Given the description of an element on the screen output the (x, y) to click on. 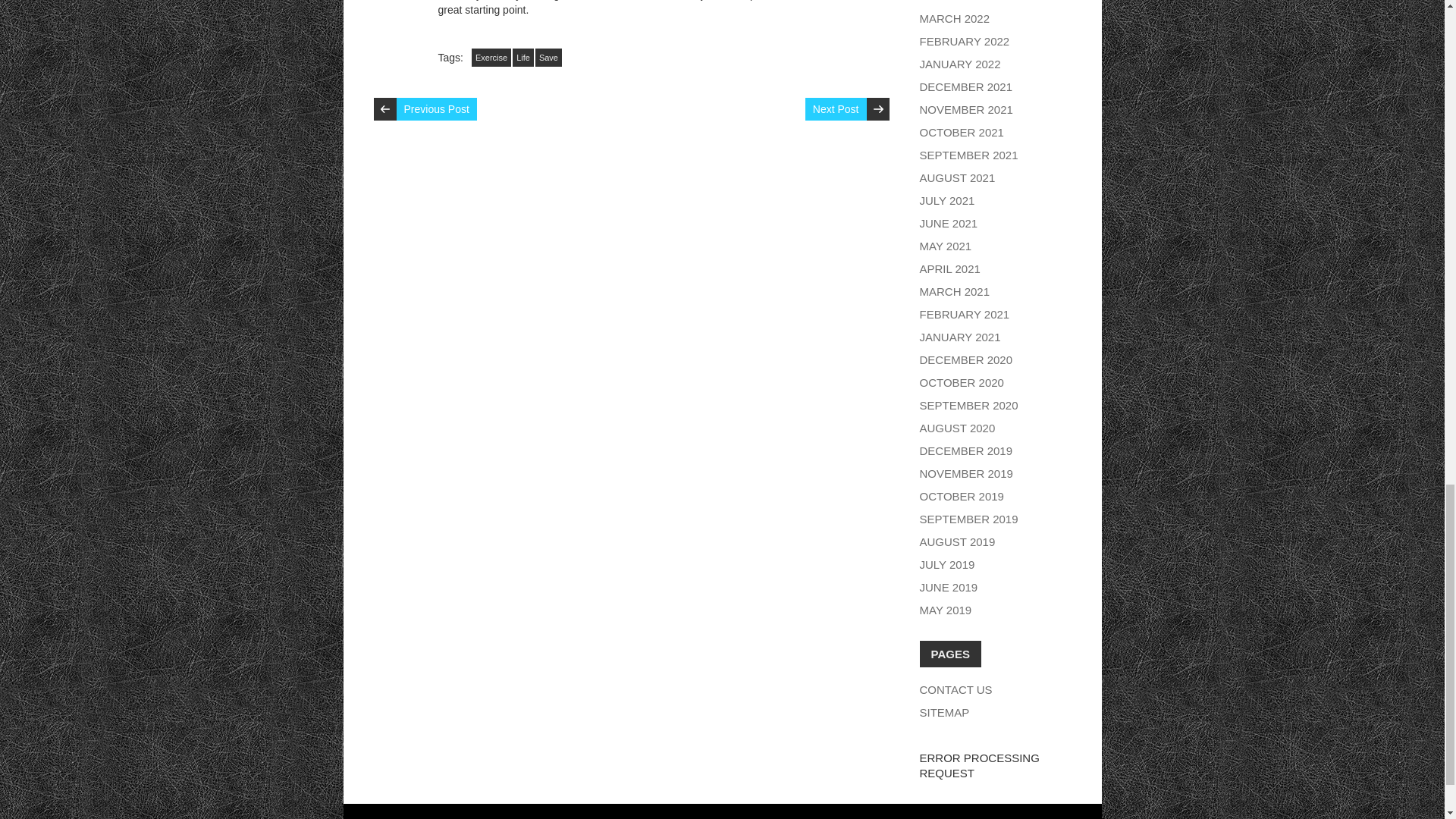
Life (523, 57)
Next Post (835, 108)
Previous Post (436, 108)
Save (548, 57)
Exercise (491, 57)
